Given the description of an element on the screen output the (x, y) to click on. 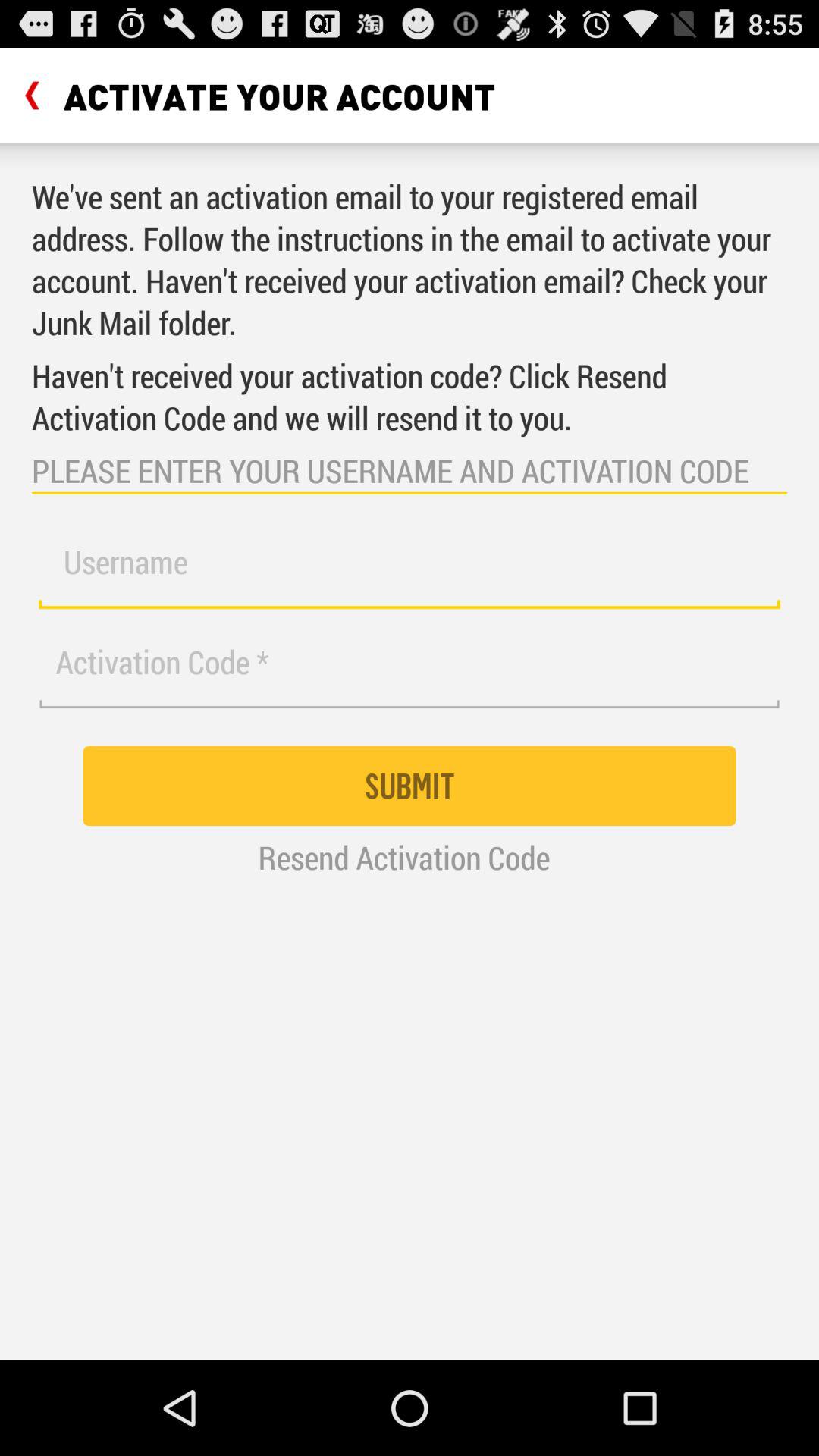
turn on the submit icon (409, 785)
